Given the description of an element on the screen output the (x, y) to click on. 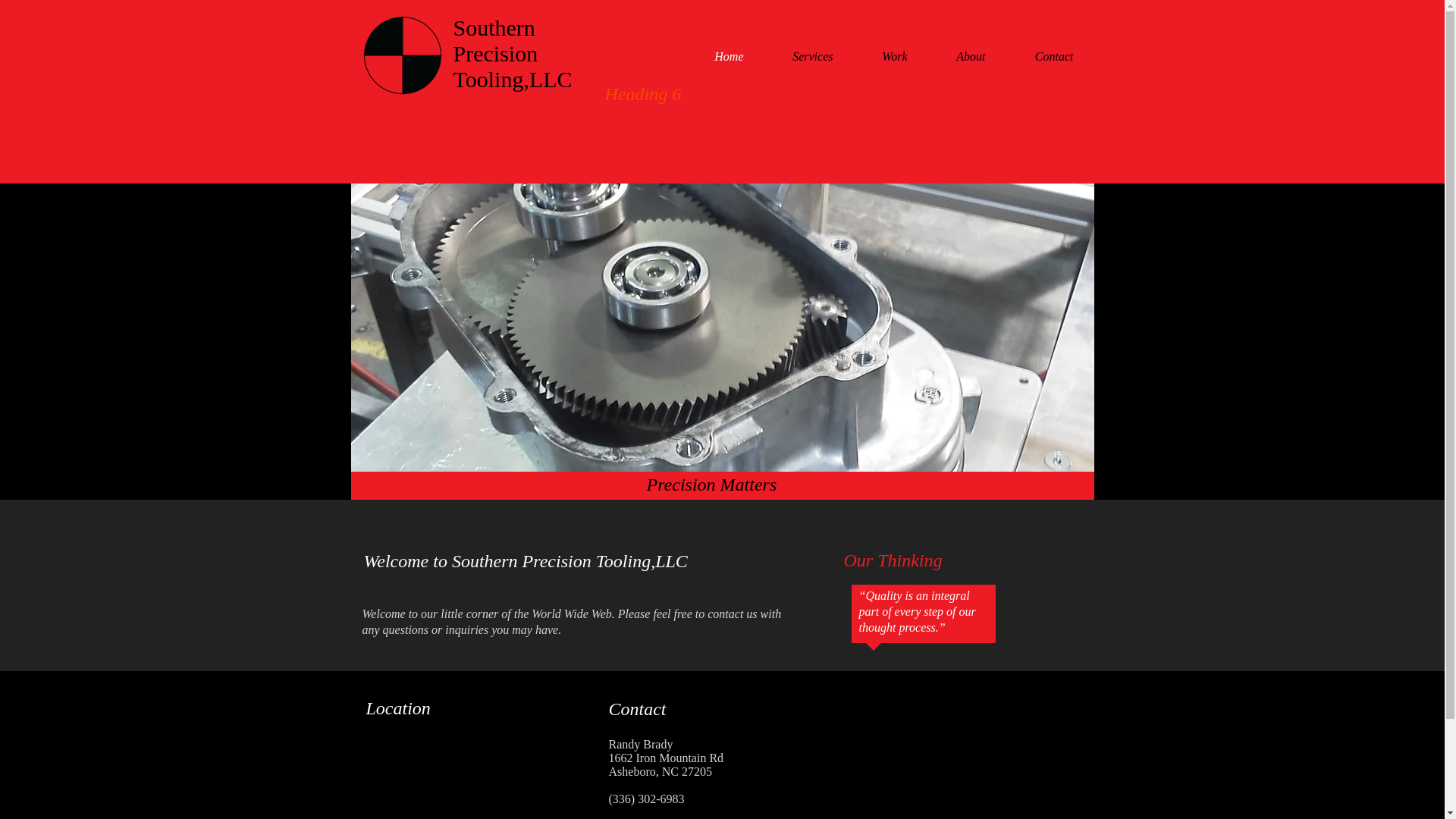
Work (877, 56)
Home (711, 56)
Contact (1036, 56)
logoicon.png (402, 54)
Services (795, 56)
About (953, 56)
